Given the description of an element on the screen output the (x, y) to click on. 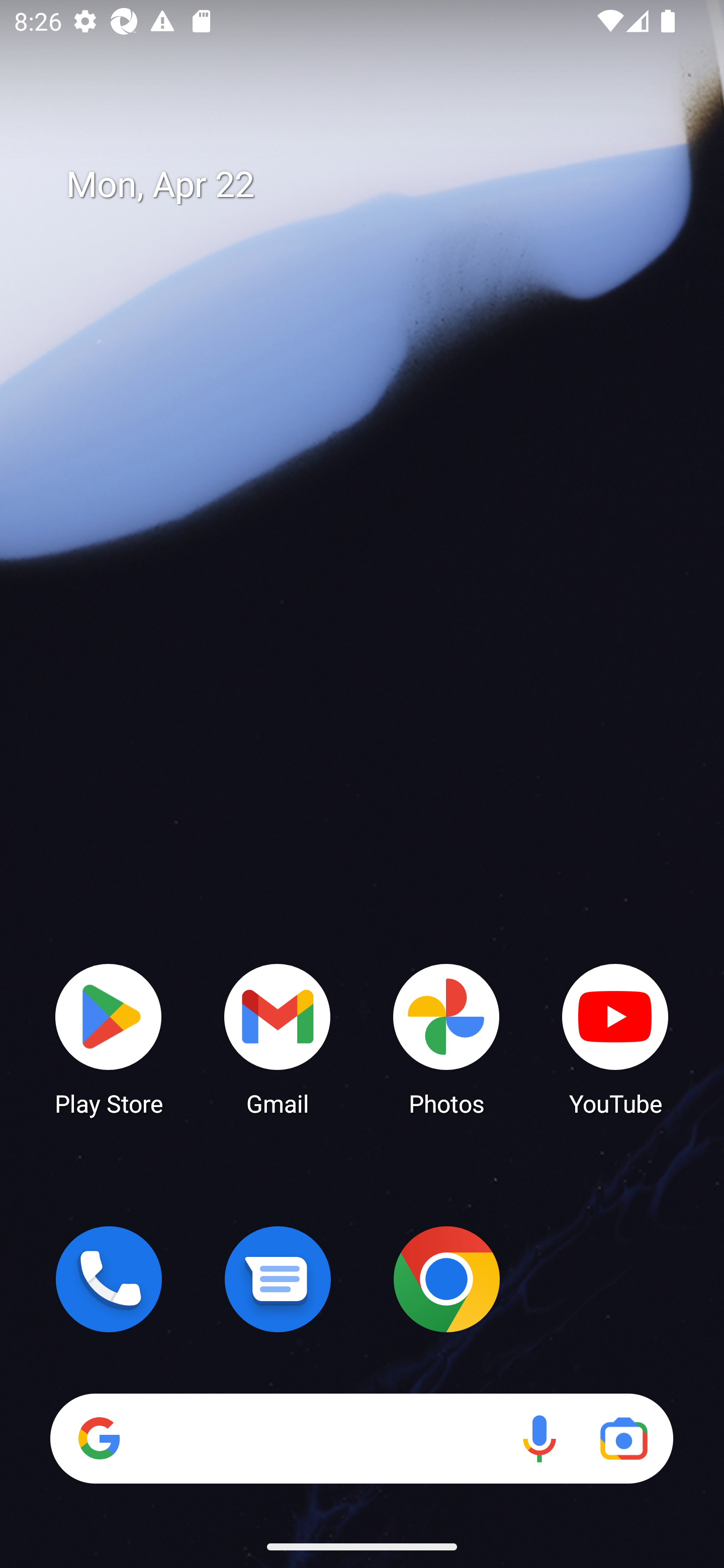
Mon, Apr 22 (375, 184)
Play Store (108, 1038)
Gmail (277, 1038)
Photos (445, 1038)
YouTube (615, 1038)
Phone (108, 1279)
Messages (277, 1279)
Chrome (446, 1279)
Search Voice search Google Lens (361, 1438)
Voice search (539, 1438)
Google Lens (623, 1438)
